Given the description of an element on the screen output the (x, y) to click on. 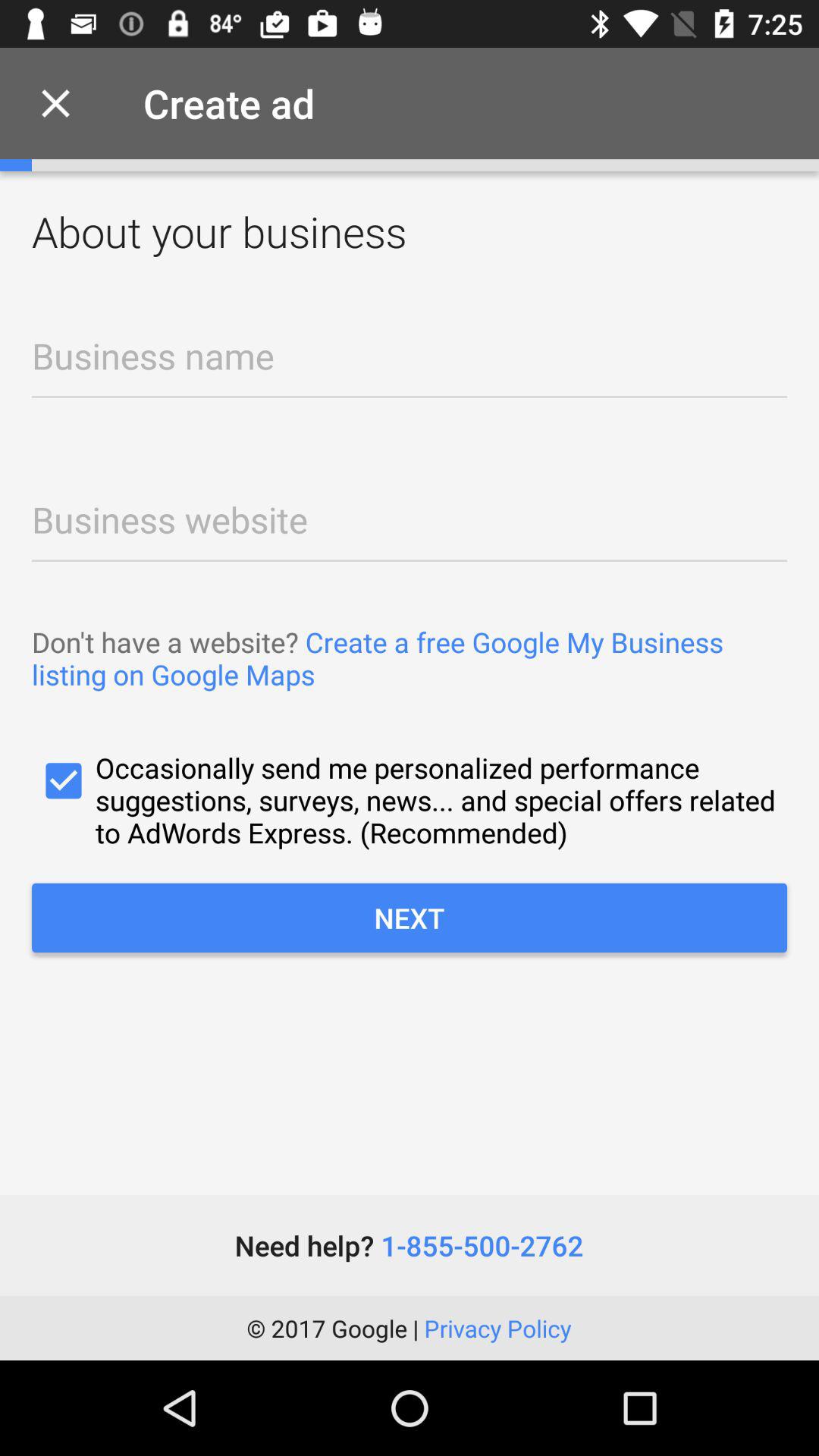
open the need help 1 (408, 1245)
